Given the description of an element on the screen output the (x, y) to click on. 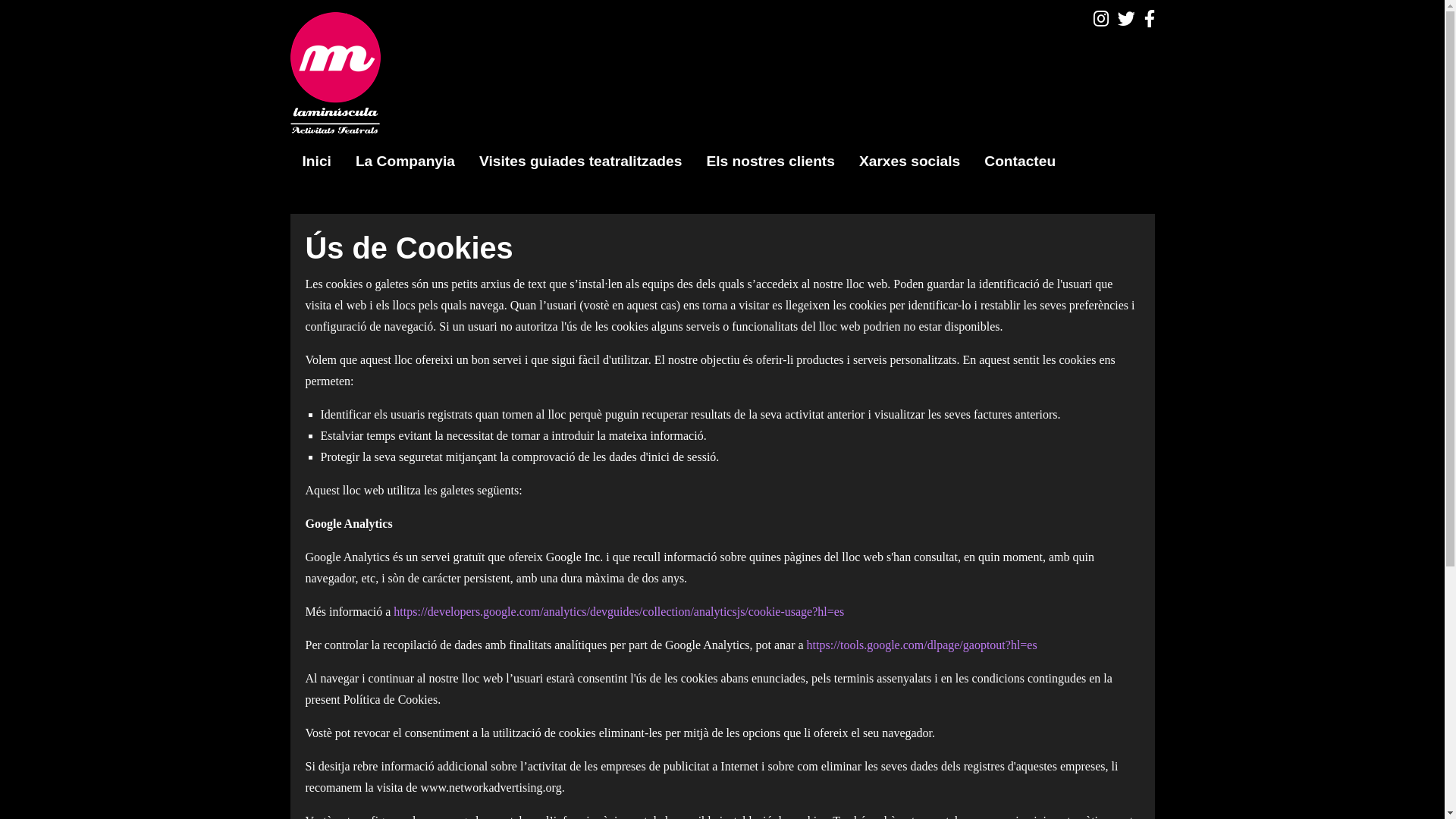
Inici Element type: text (315, 161)
Visites guiades teatralitzades Element type: text (580, 161)
Contacteu Element type: text (1019, 161)
Link a facebook Element type: text (1148, 18)
https://tools.google.com/dlpage/gaoptout?hl=es Element type: text (921, 644)
Link a twitter Element type: text (1126, 18)
Xarxes socials Element type: text (909, 161)
La Companyia Element type: text (405, 161)
Els nostres clients Element type: text (770, 161)
Link a instagram Element type: text (1100, 18)
